Given the description of an element on the screen output the (x, y) to click on. 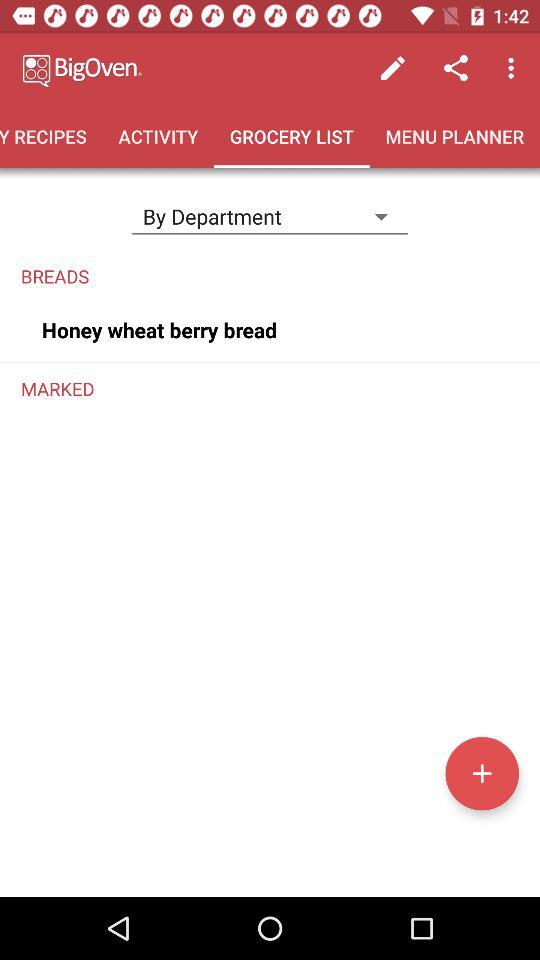
add item on list (482, 773)
